Given the description of an element on the screen output the (x, y) to click on. 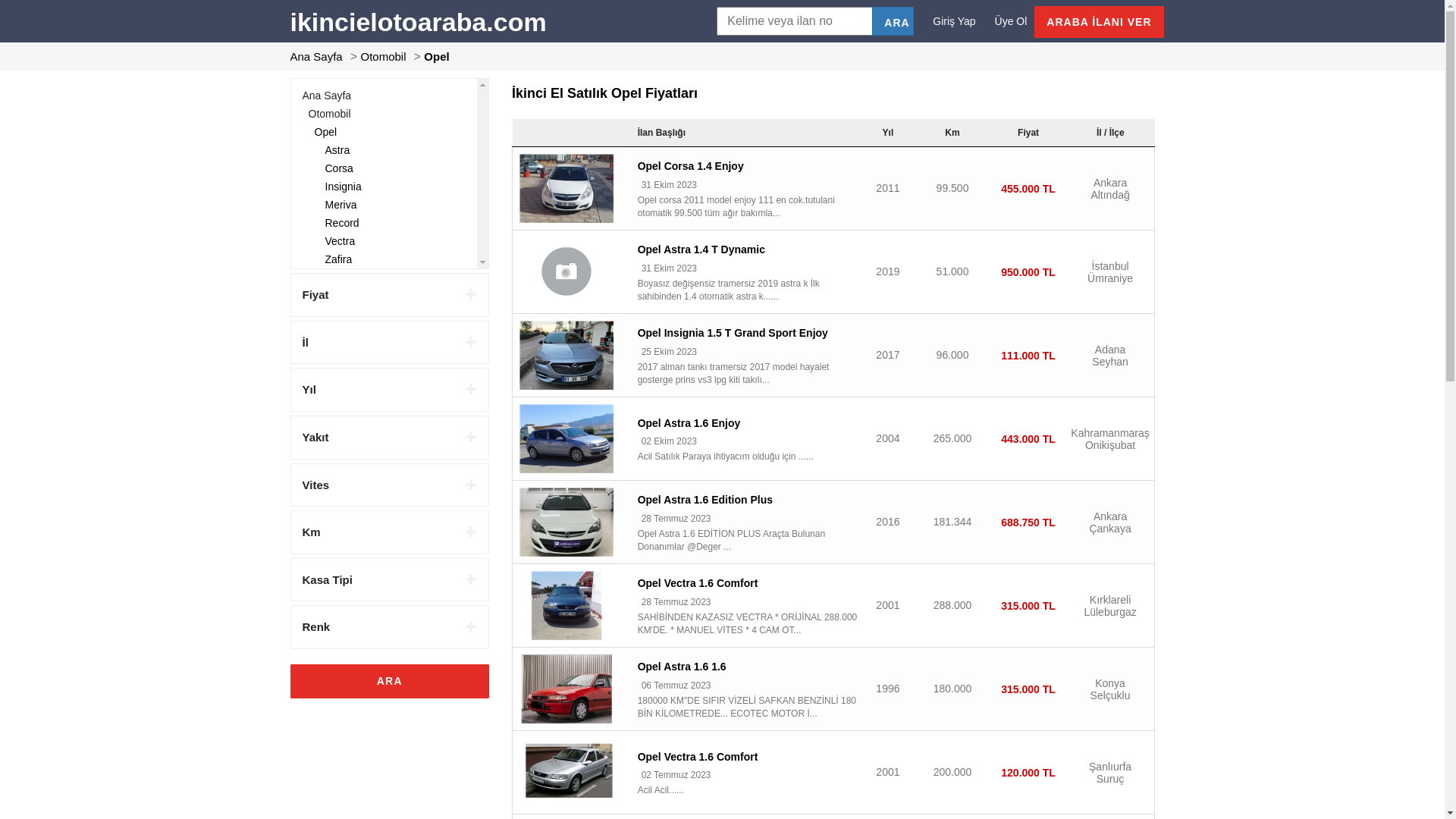
Opel Element type: text (435, 56)
ARA Element type: text (389, 681)
Ana Sayfa Element type: text (326, 95)
Kasa Tipi Element type: text (390, 579)
Ana Sayfa Element type: text (315, 56)
Opel Astra 1.6 Edition Plus Element type: hover (566, 521)
Opel Vectra 1.6 Comfort Element type: text (697, 583)
Opel Astra 1.6 1.6 Element type: hover (566, 688)
Opel Astra 1.6 Enjoy Element type: hover (566, 438)
Km Element type: text (390, 532)
Opel Corsa 1.4 Enjoy Element type: text (690, 166)
Opel Insignia 1.5 T Grand Sport Enjoy Element type: text (732, 332)
ARA Element type: text (892, 20)
Opel Vectra 1.6 Comfort Element type: hover (566, 771)
Fiyat Element type: text (1028, 133)
Astra Element type: text (336, 150)
Vectra Element type: text (339, 241)
Record Element type: text (341, 222)
Km Element type: text (952, 133)
Corsa Element type: text (338, 168)
Vites Element type: text (390, 485)
Opel Astra 1.4 T Dynamic Element type: text (701, 249)
Otomobil Element type: text (328, 113)
Zafira Element type: text (337, 259)
Opel Element type: text (324, 131)
Renk Element type: text (390, 626)
Opel Vectra 1.6 Comfort Element type: text (697, 756)
Opel Astra 1.4 T Dynamic Element type: hover (566, 271)
Opel Insignia 1.5 T Grand Sport Enjoy Element type: hover (566, 354)
Opel Vectra 1.6 Comfort Element type: hover (566, 605)
Fiyat Element type: text (390, 294)
Opel Astra 1.6 1.6 Element type: text (681, 666)
Opel Astra 1.6 Edition Plus Element type: text (704, 499)
Otomobil Element type: text (383, 56)
Meriva Element type: text (340, 204)
Opel Corsa 1.4 Enjoy Element type: hover (566, 187)
Opel Astra 1.6 Enjoy Element type: text (688, 423)
Insignia Element type: text (342, 186)
